Given the description of an element on the screen output the (x, y) to click on. 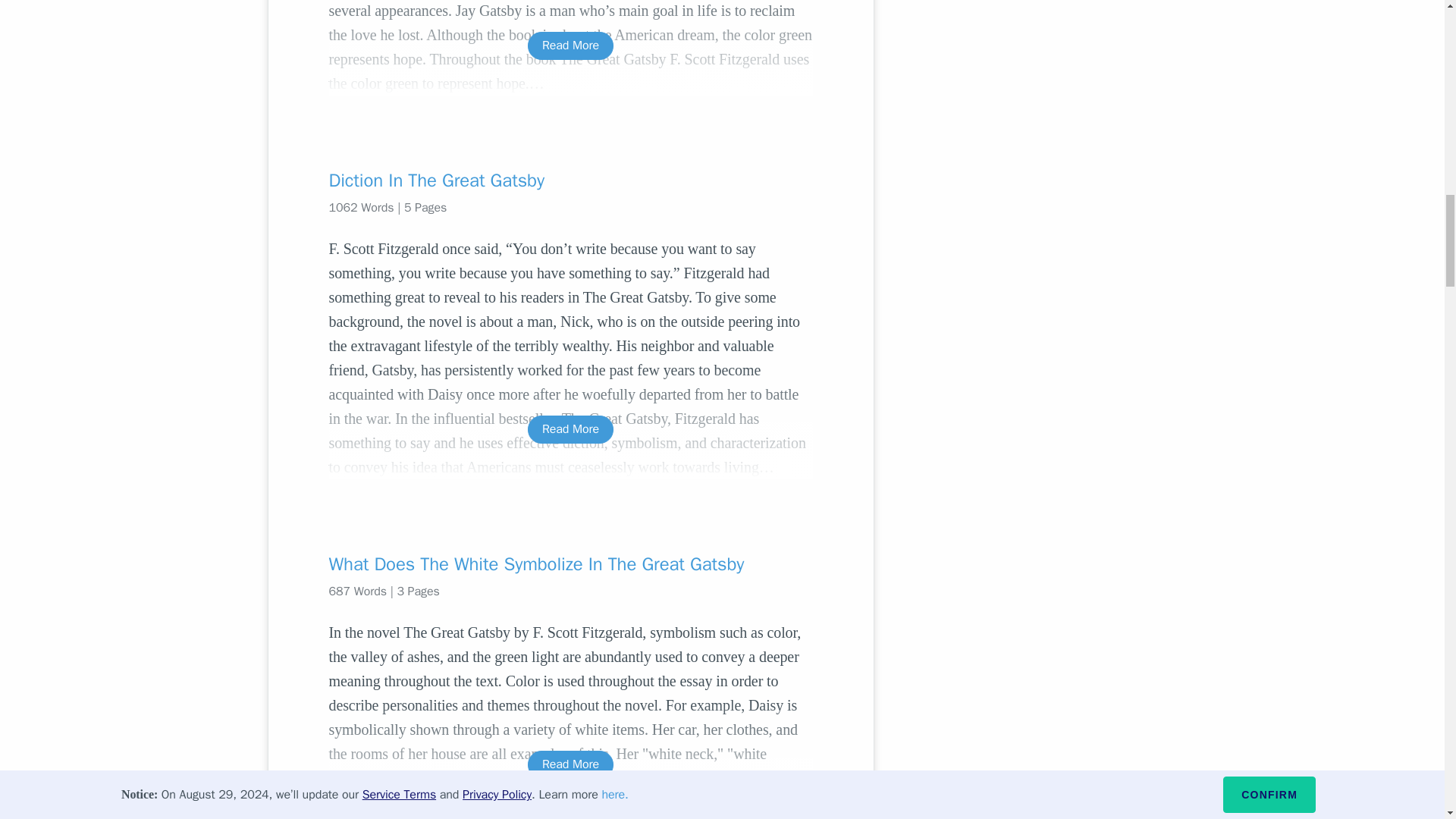
Read More (569, 45)
Read More (569, 764)
What Does The White Symbolize In The Great Gatsby (570, 564)
Diction In The Great Gatsby (570, 180)
Read More (569, 429)
